Given the description of an element on the screen output the (x, y) to click on. 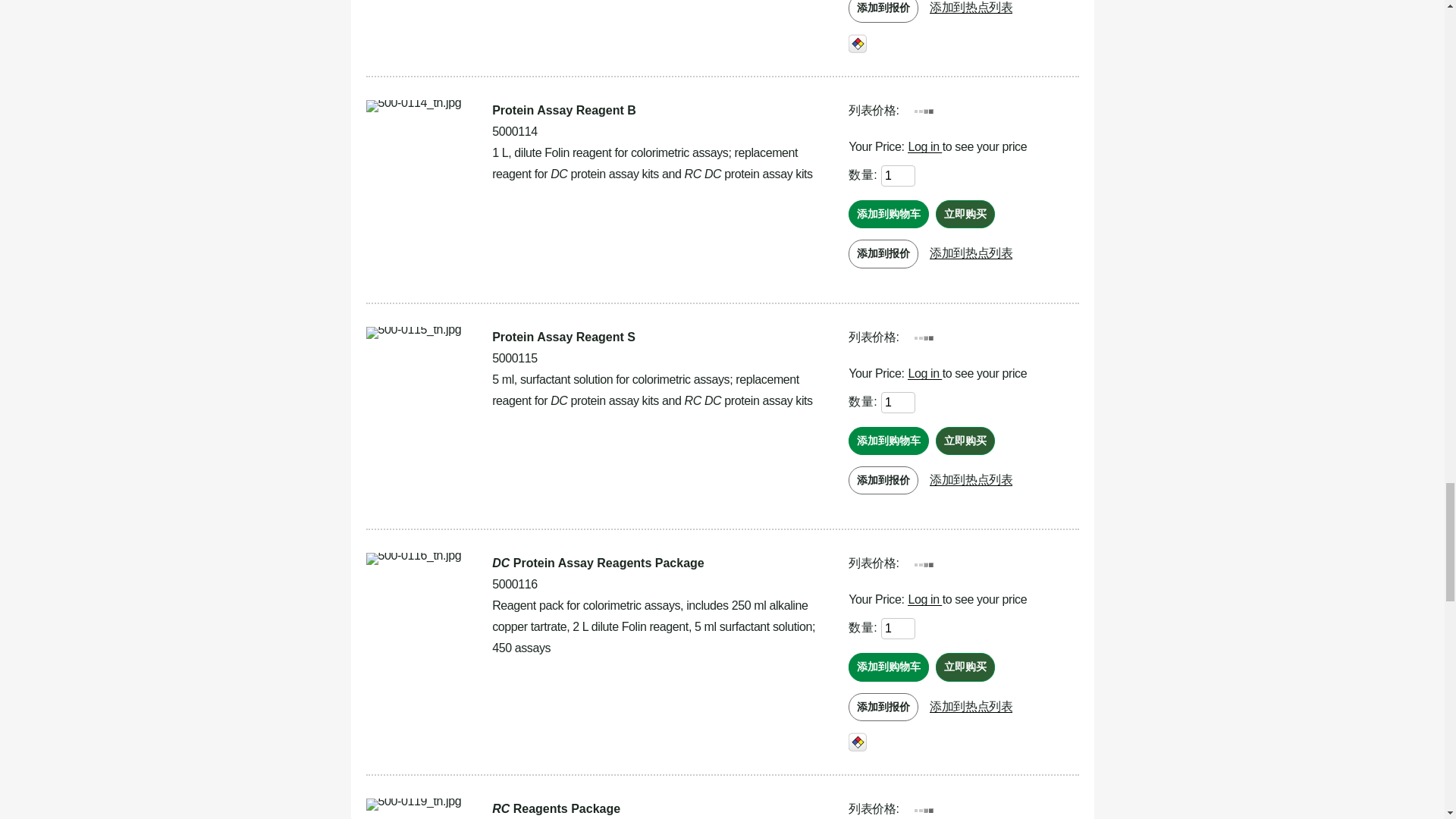
1 (897, 175)
1 (897, 628)
1 (897, 402)
